Given the description of an element on the screen output the (x, y) to click on. 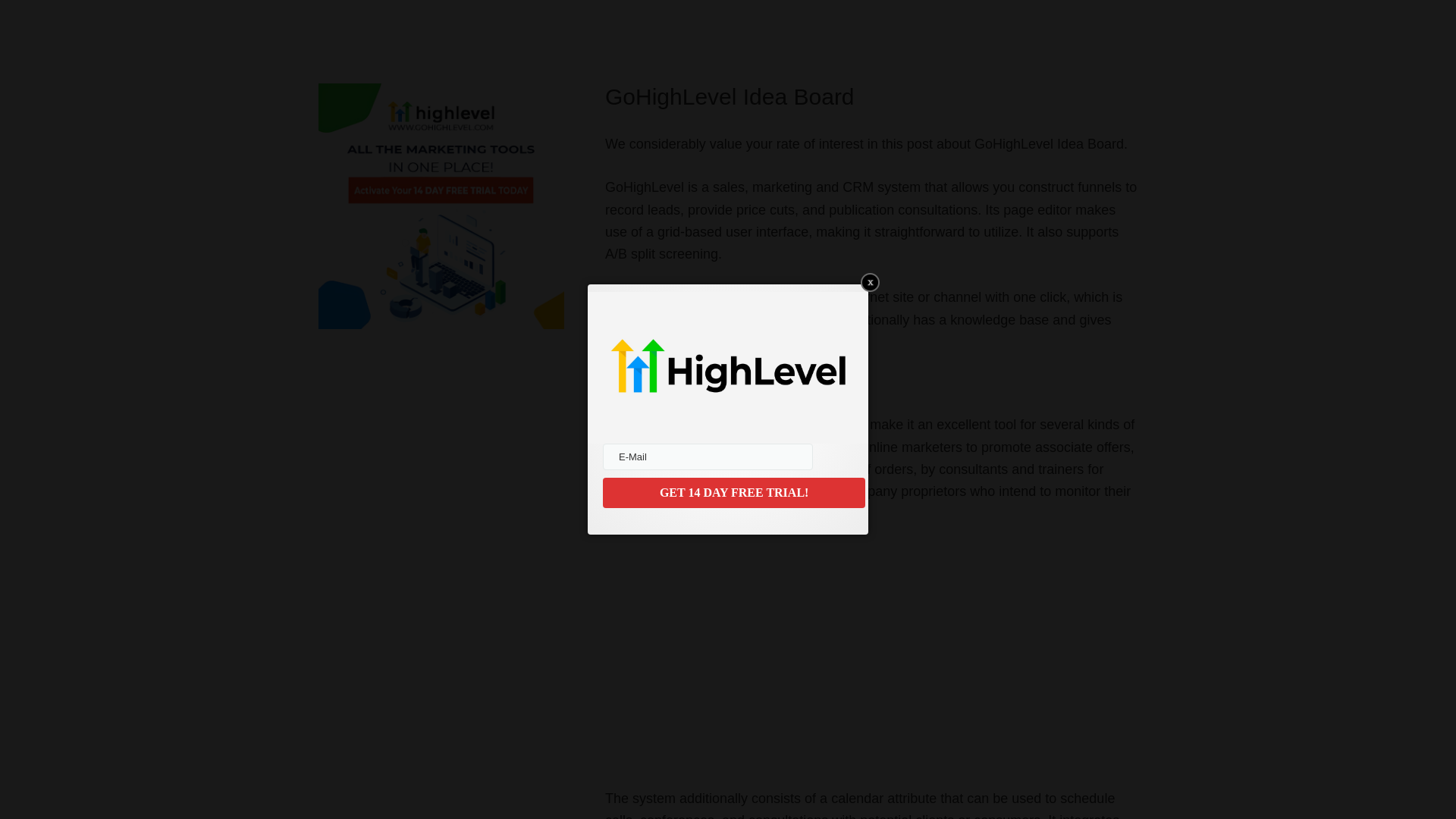
Welcome To HighLevel (794, 653)
GET 14 DAY FREE TRIAL! (733, 492)
GET 14 DAY FREE TRIAL! (733, 492)
